Given the description of an element on the screen output the (x, y) to click on. 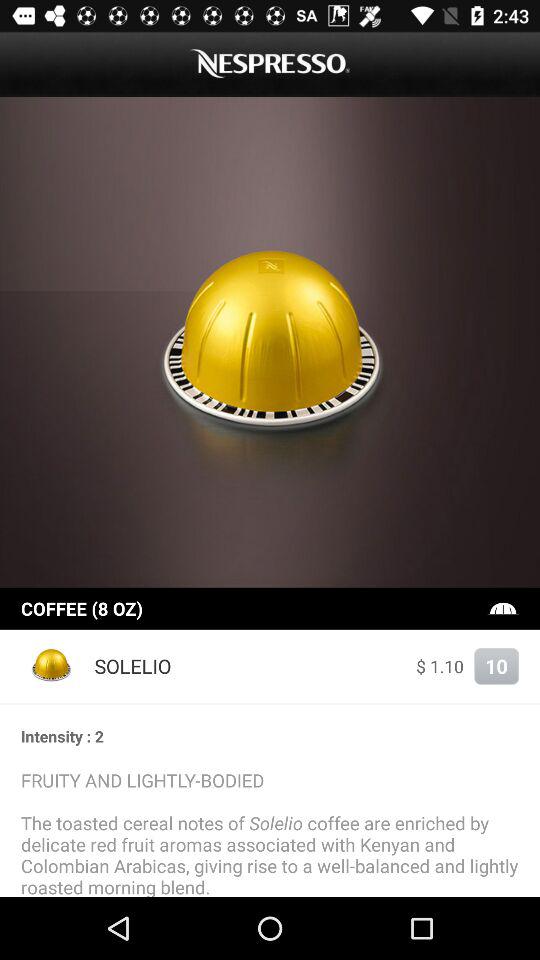
open icon next to the coffee (8 oz) (503, 608)
